Given the description of an element on the screen output the (x, y) to click on. 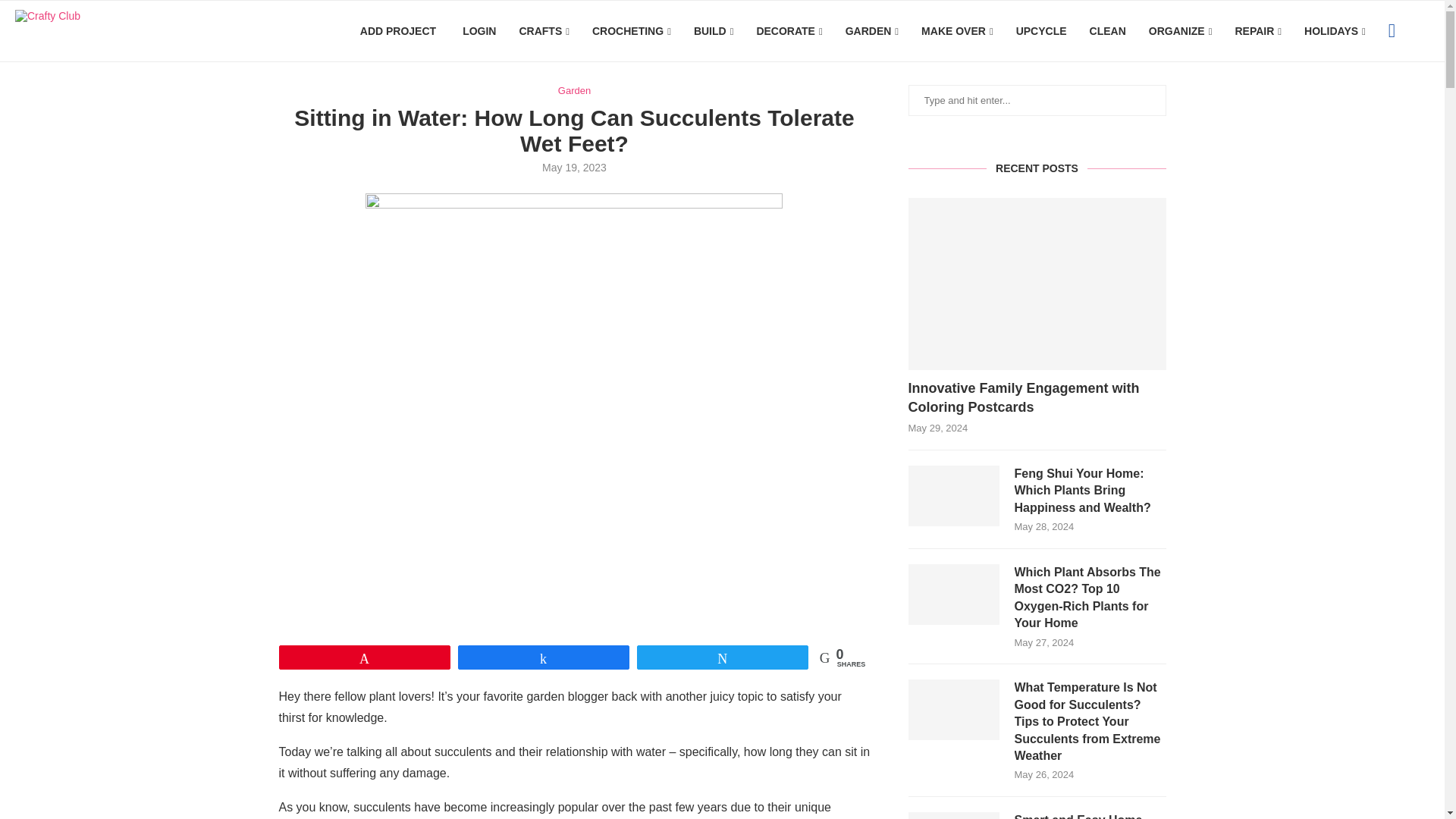
CROCHETING (631, 31)
Smart and Easy Home Organization: Mastering Kitchen Spaces (1090, 815)
Smart and Easy Home Organization: Mastering Kitchen Spaces (953, 815)
Innovative Family Engagement with Coloring Postcards (1037, 397)
Innovative Family Engagement with Coloring Postcards (1037, 284)
DECORATE (788, 31)
ADD PROJECT (395, 31)
